Given the description of an element on the screen output the (x, y) to click on. 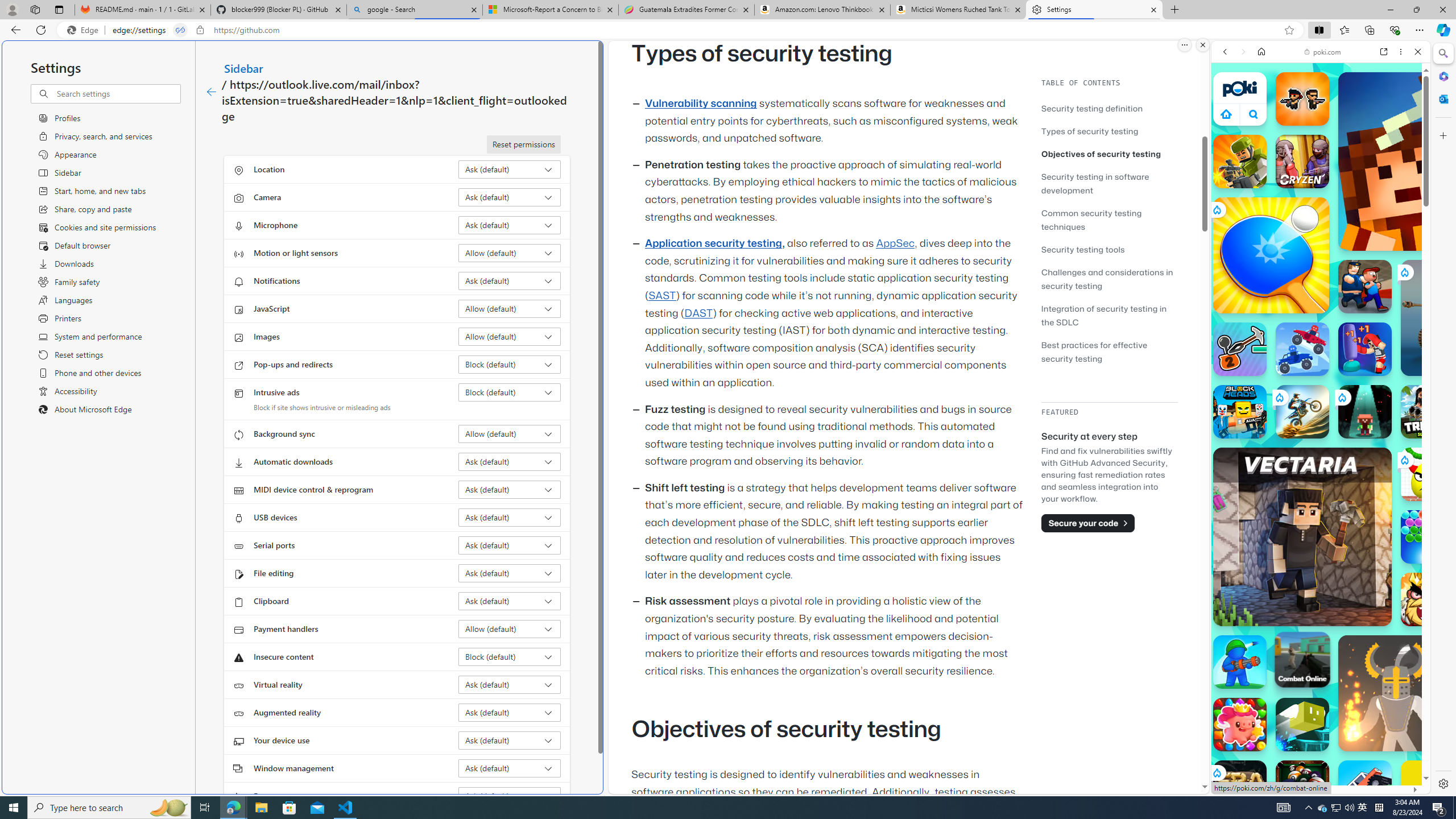
Draw To Smash: Logic Puzzle (1427, 474)
Close split screen. (1202, 45)
Battle Wheels Battle Wheels (1302, 348)
Common security testing techniques (1091, 219)
Best practices for effective security testing (1109, 351)
Kour.io (1239, 161)
Combat Reloaded (1349, 580)
Sports Games (1320, 378)
Stunt Bike Extreme Stunt Bike Extreme (1302, 411)
